Given the description of an element on the screen output the (x, y) to click on. 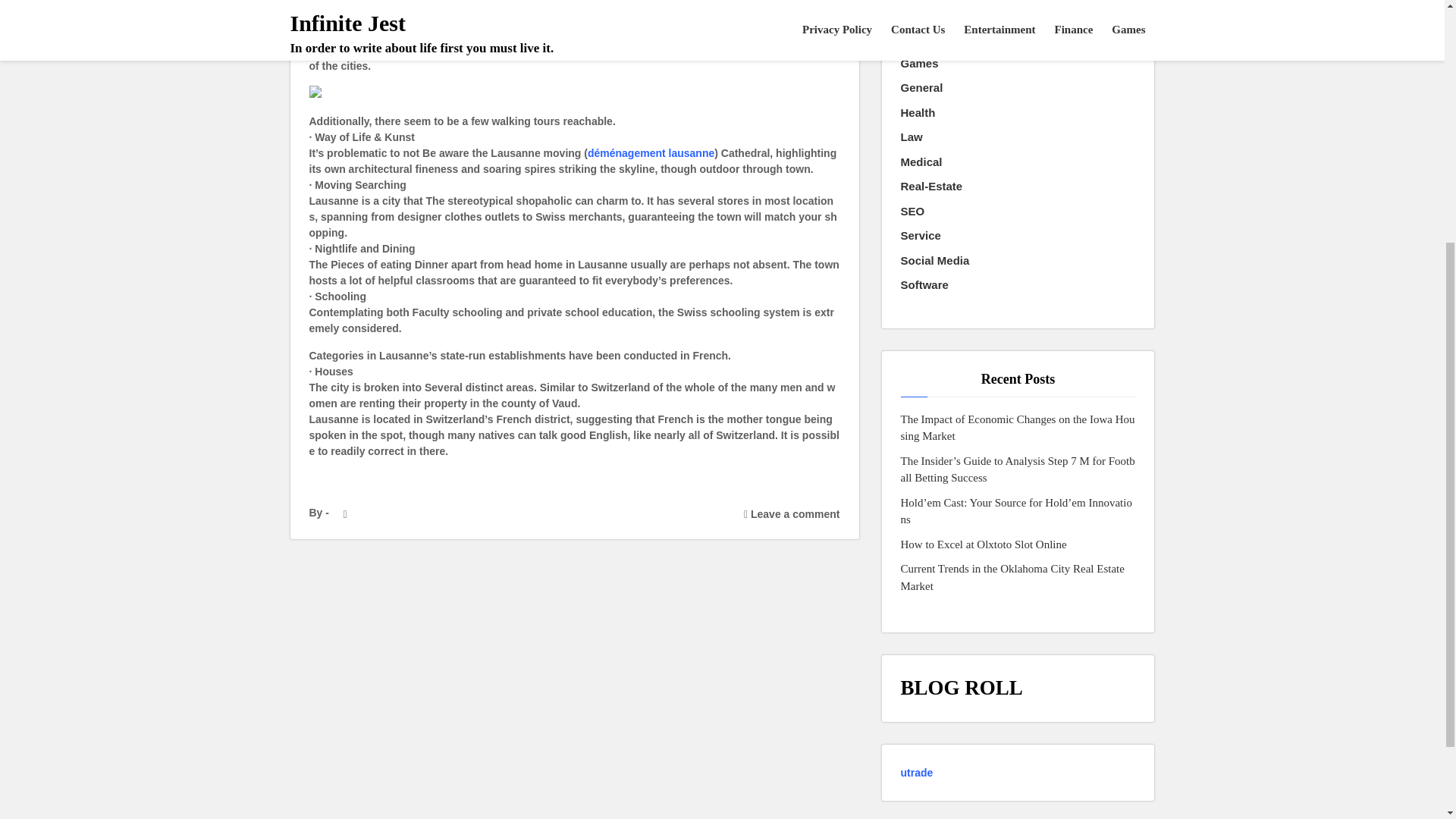
Social Media (935, 261)
Finance (922, 38)
Medical (921, 162)
The Impact of Economic Changes on the Iowa Housing Market (1018, 428)
Entertainment (938, 14)
General (922, 88)
Real-Estate (931, 186)
How to Excel at Olxtoto Slot Online (984, 544)
Health (918, 113)
Games (920, 63)
Software (925, 285)
utrade (917, 772)
SEO (912, 211)
Law (912, 137)
Current Trends in the Oklahoma City Real Estate Market (1018, 577)
